Given the description of an element on the screen output the (x, y) to click on. 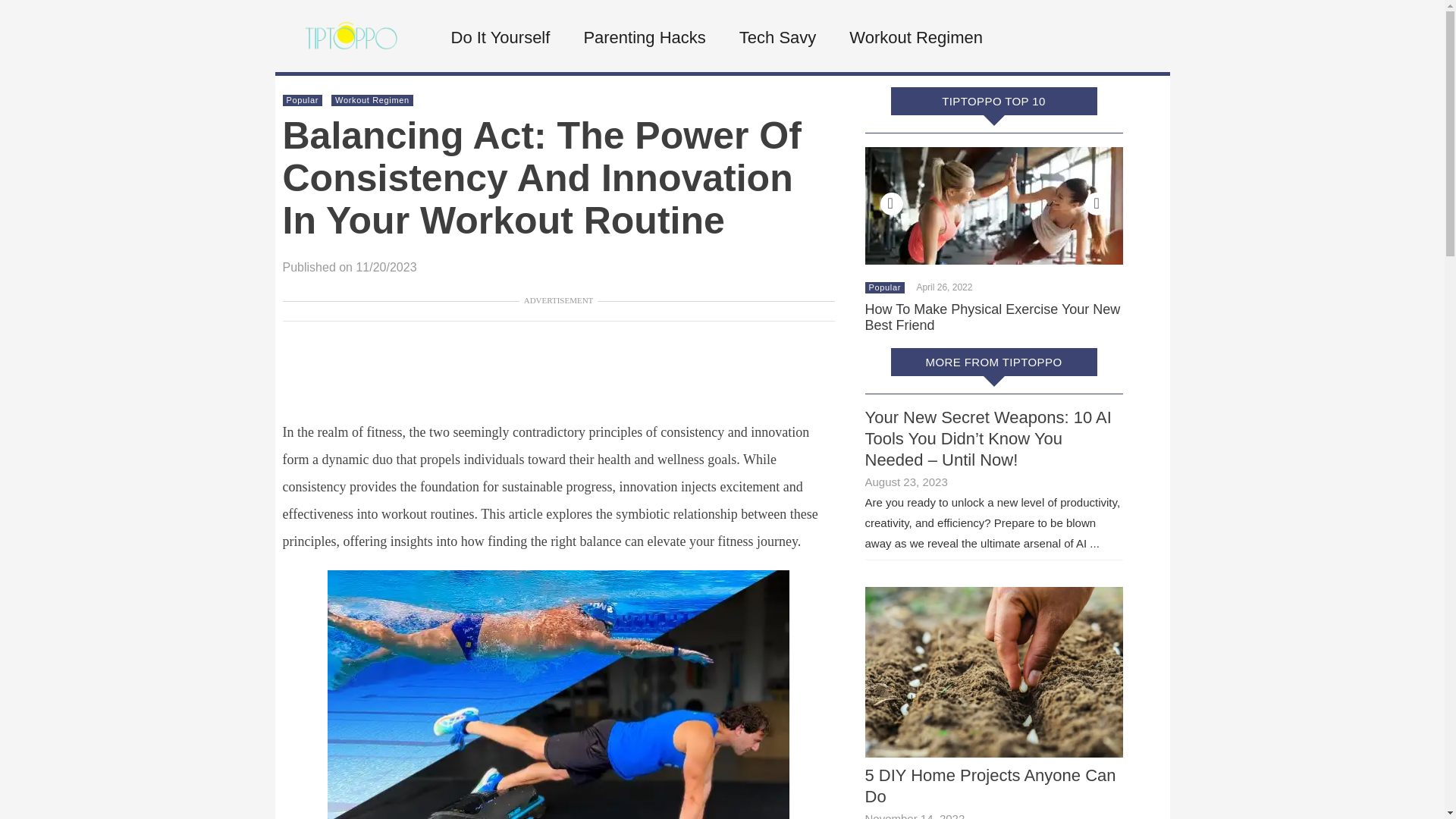
Do It Yourself (498, 37)
Popular (885, 286)
Tech Savy (775, 37)
Parenting Hacks (641, 37)
Popular (302, 99)
Workout Regimen (913, 37)
How To Make Physical Exercise Your New Best Friend (991, 317)
Tiptoppo (349, 65)
Workout Regimen (371, 99)
